Given the description of an element on the screen output the (x, y) to click on. 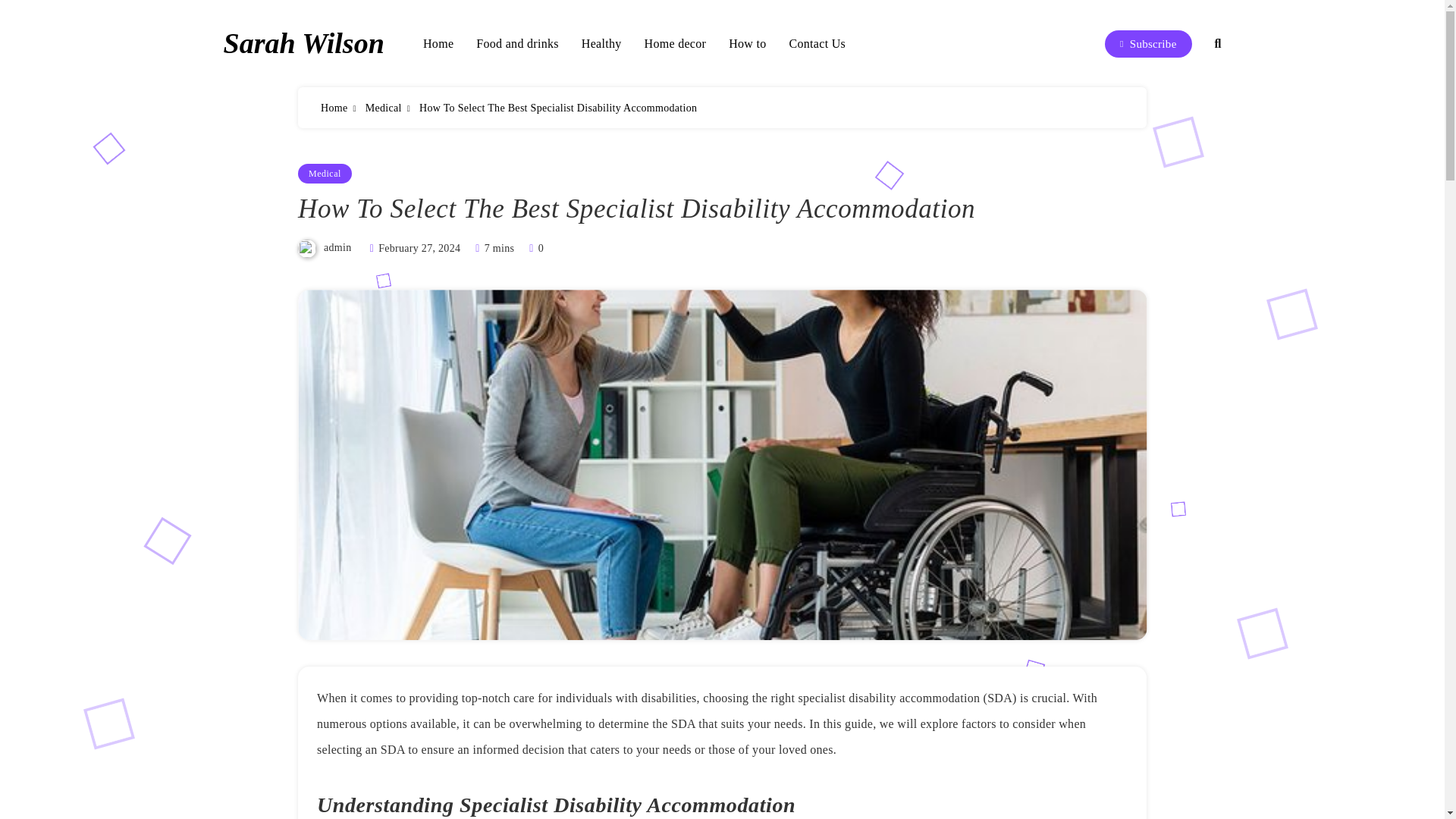
Medical (383, 107)
Home (333, 107)
Home decor (675, 44)
admin (337, 247)
0 (534, 247)
Sarah Wilson (303, 42)
Home (437, 44)
Medical (325, 173)
Contact Us (817, 44)
Subscribe (1148, 43)
February 27, 2024 (419, 247)
How to (747, 44)
Healthy (600, 44)
Food and drinks (517, 44)
